Given the description of an element on the screen output the (x, y) to click on. 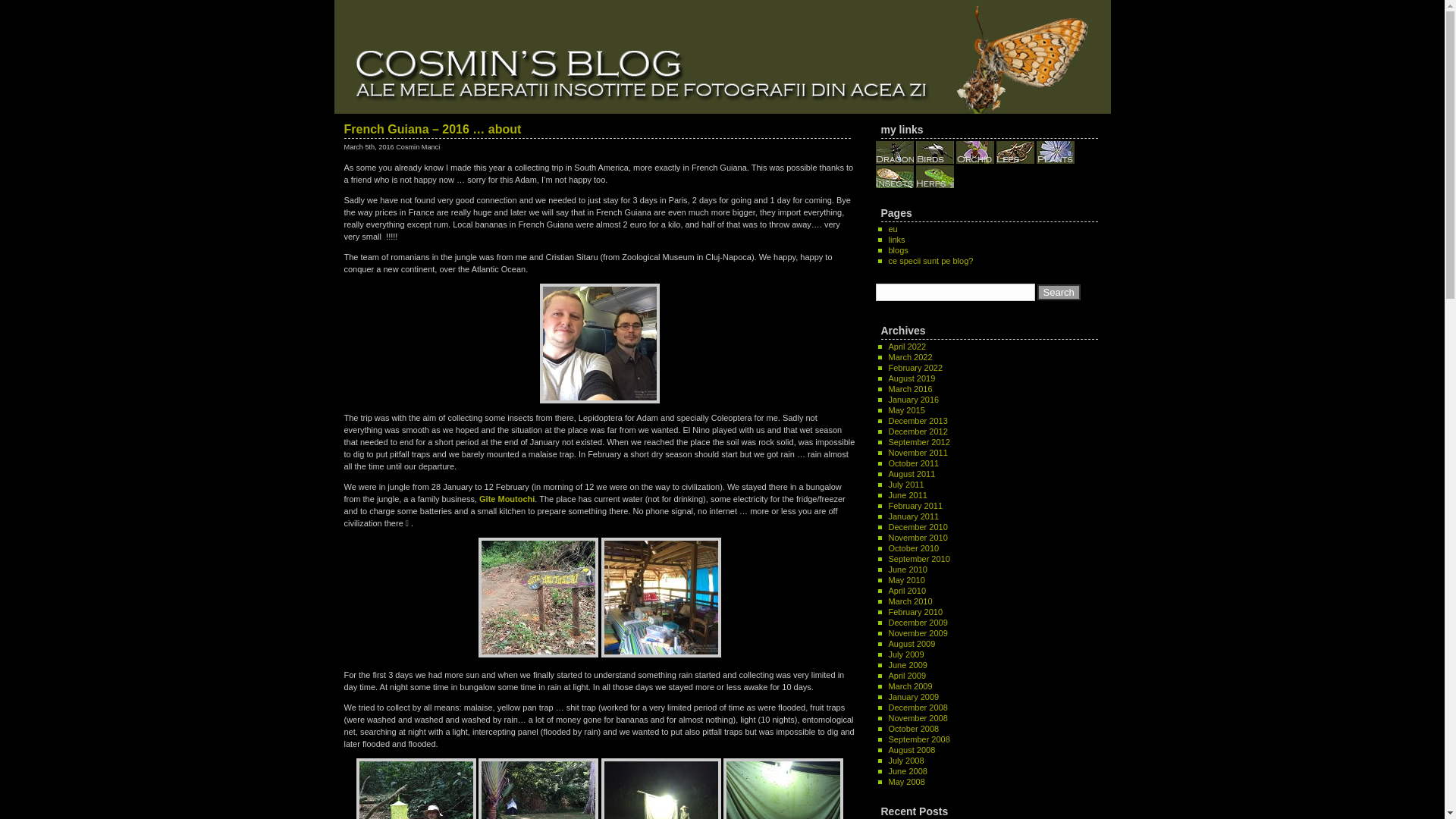
insects (893, 176)
orchids (975, 151)
birds (934, 151)
Search (1058, 292)
plants (1055, 151)
dragonflies (893, 151)
herps (934, 176)
